Given the description of an element on the screen output the (x, y) to click on. 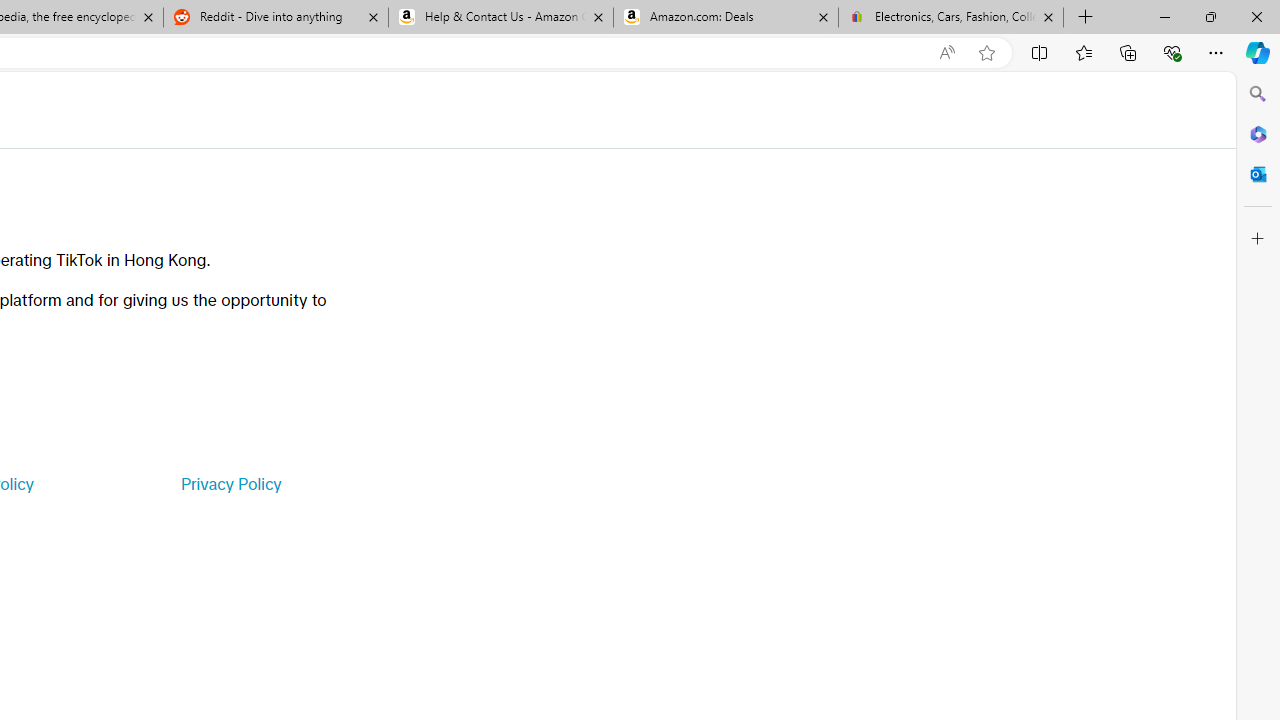
Reddit - Dive into anything (275, 17)
Privacy Policy (230, 484)
Amazon.com: Deals (726, 17)
